Given the description of an element on the screen output the (x, y) to click on. 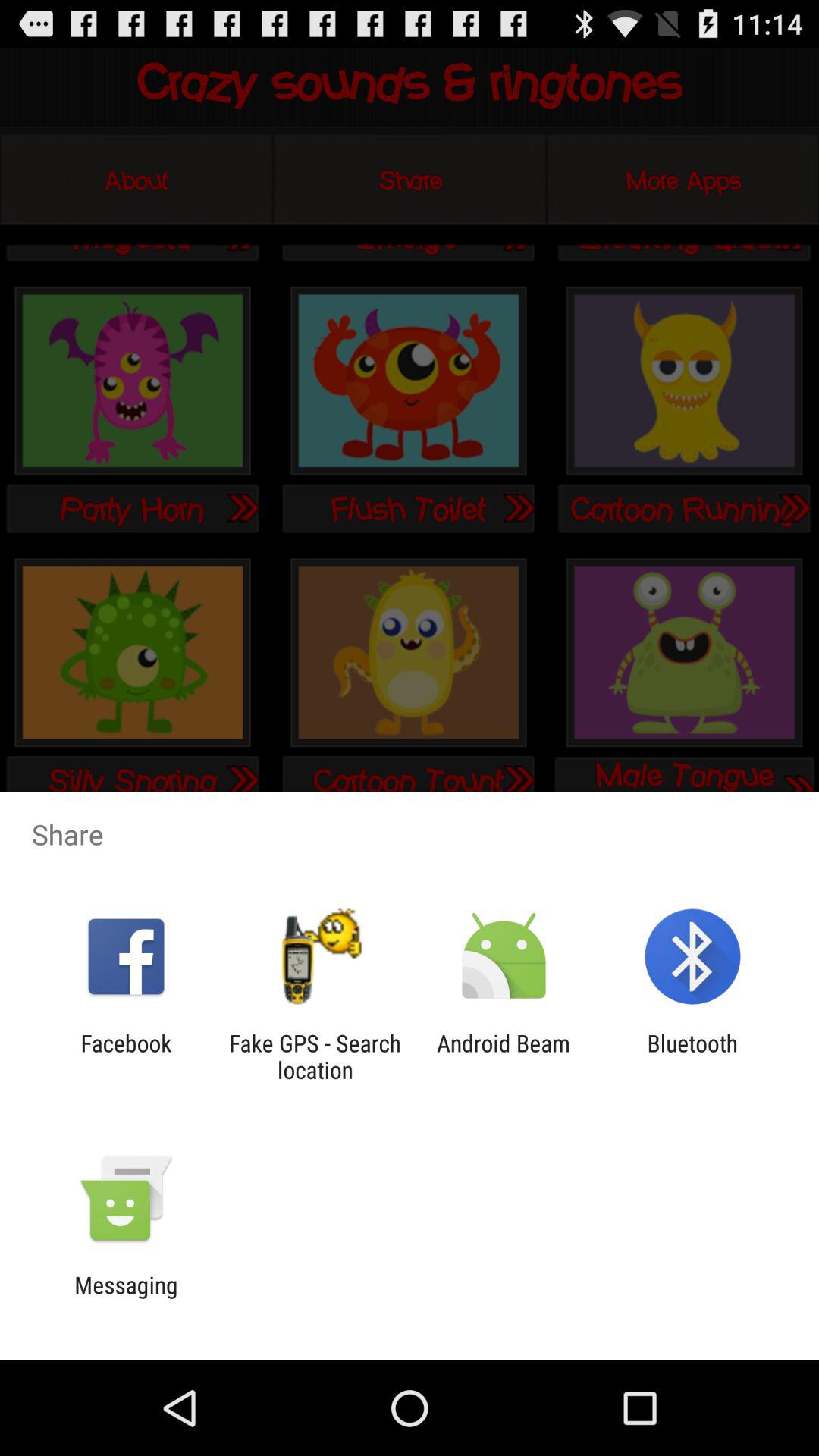
press the icon next to facebook icon (314, 1056)
